Given the description of an element on the screen output the (x, y) to click on. 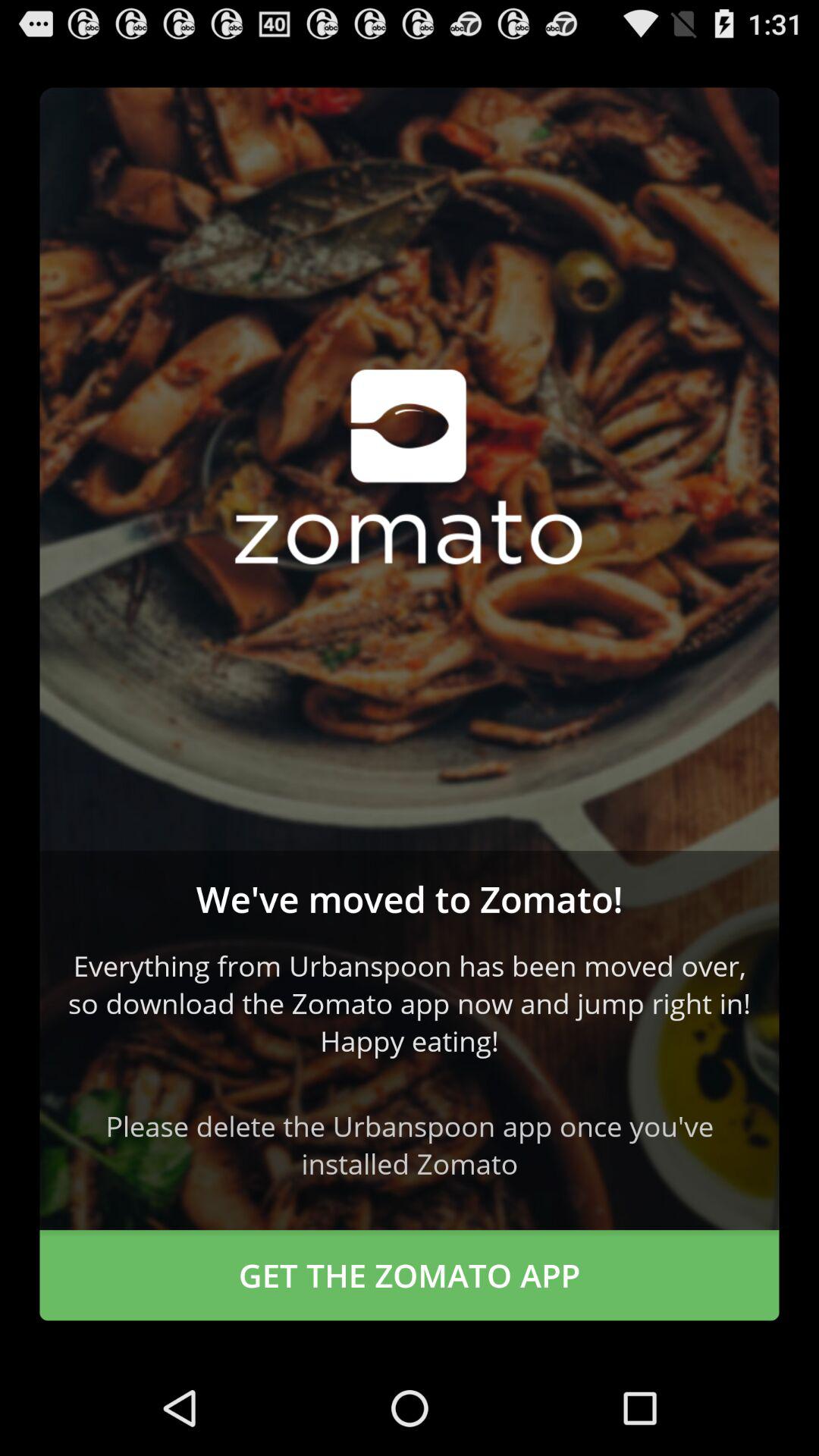
open app (409, 468)
